Given the description of an element on the screen output the (x, y) to click on. 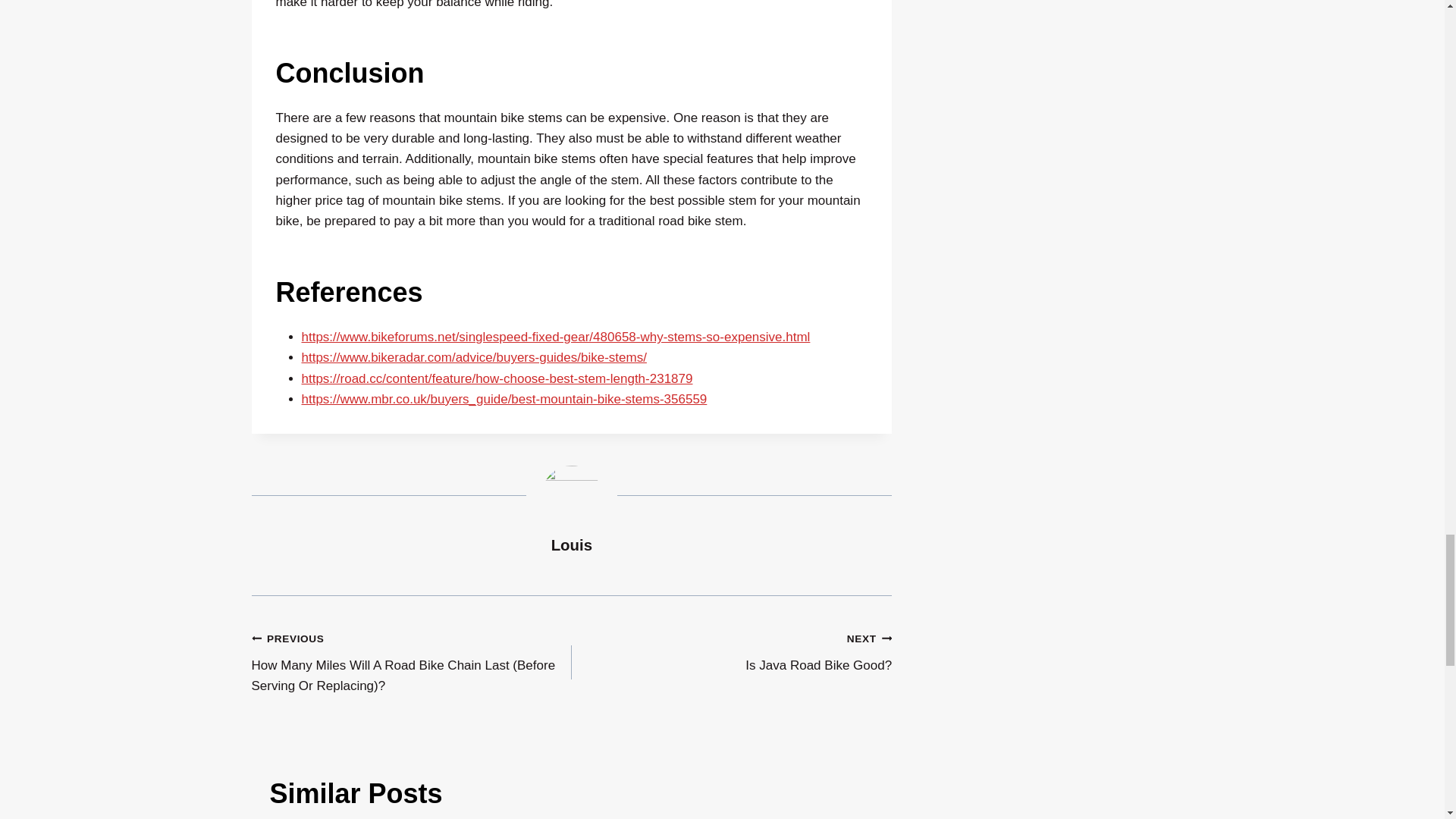
Louis (731, 651)
Posts by Louis (571, 545)
